Given the description of an element on the screen output the (x, y) to click on. 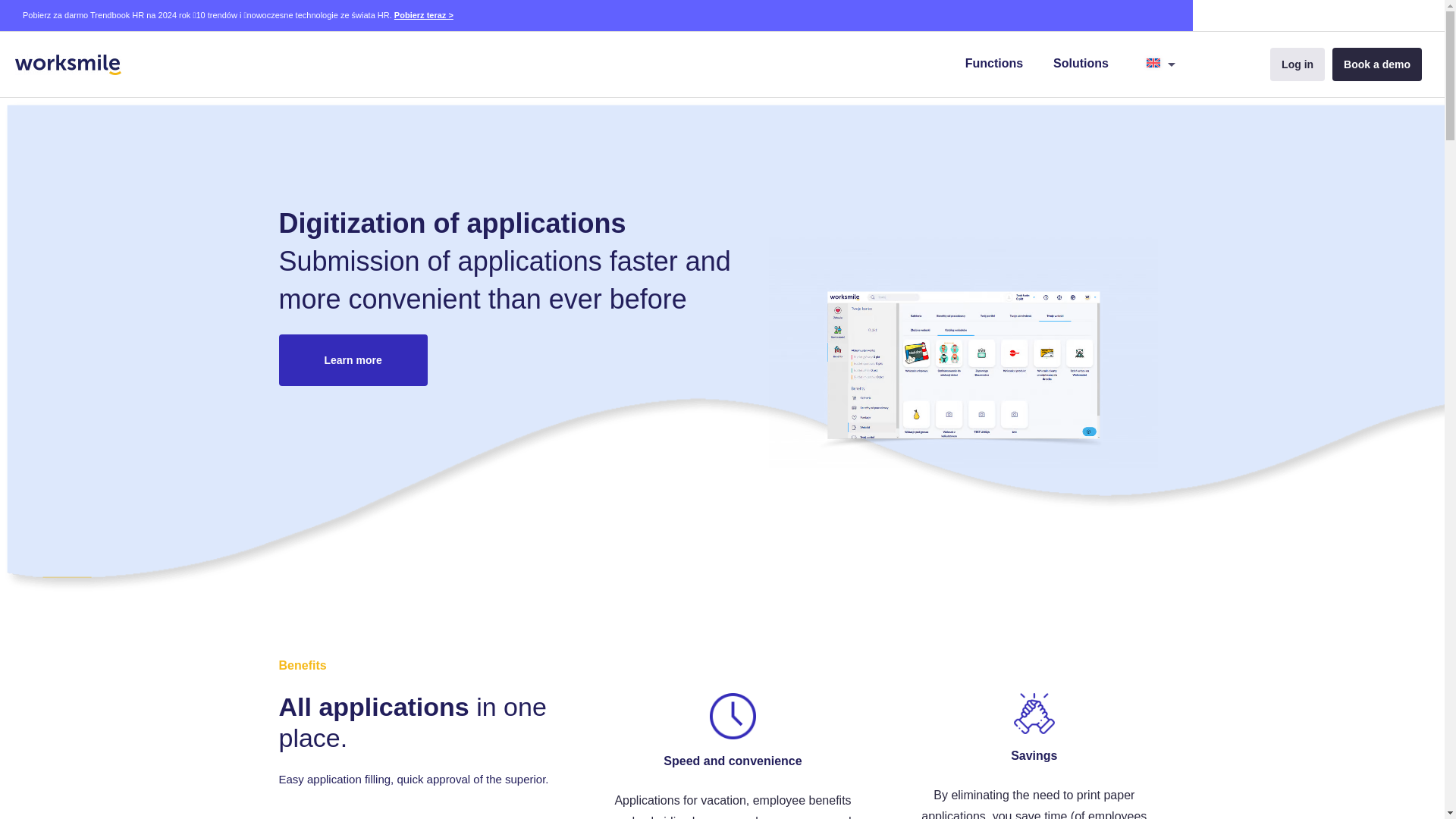
Solutions (1081, 64)
Log in (1296, 64)
Book a demo (1377, 64)
Functions (994, 64)
Learn more (353, 359)
